Given the description of an element on the screen output the (x, y) to click on. 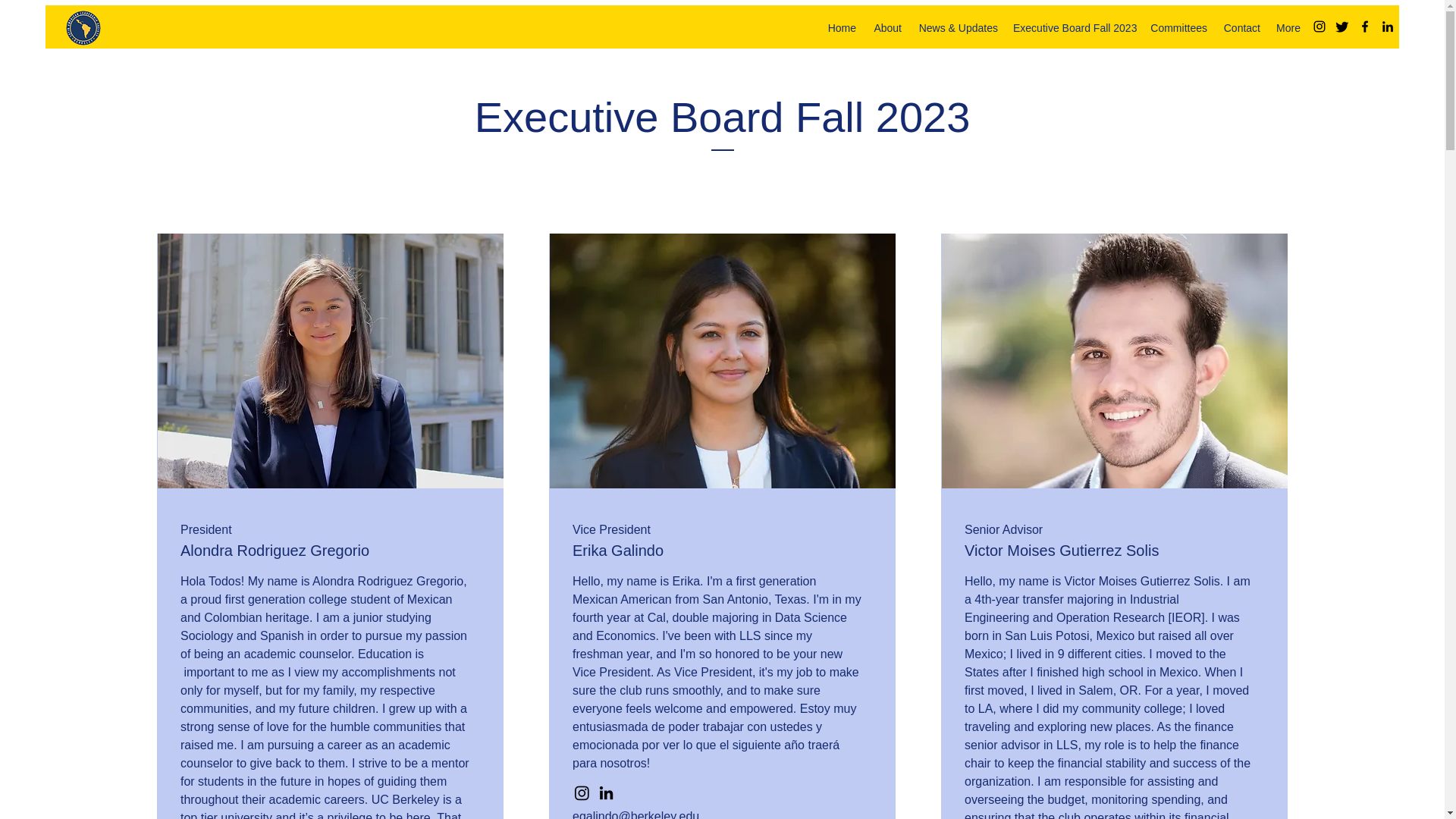
About (885, 27)
Committees (1177, 27)
Contact (1241, 27)
Home (841, 27)
Executive Board Fall 2023 (1073, 27)
